Given the description of an element on the screen output the (x, y) to click on. 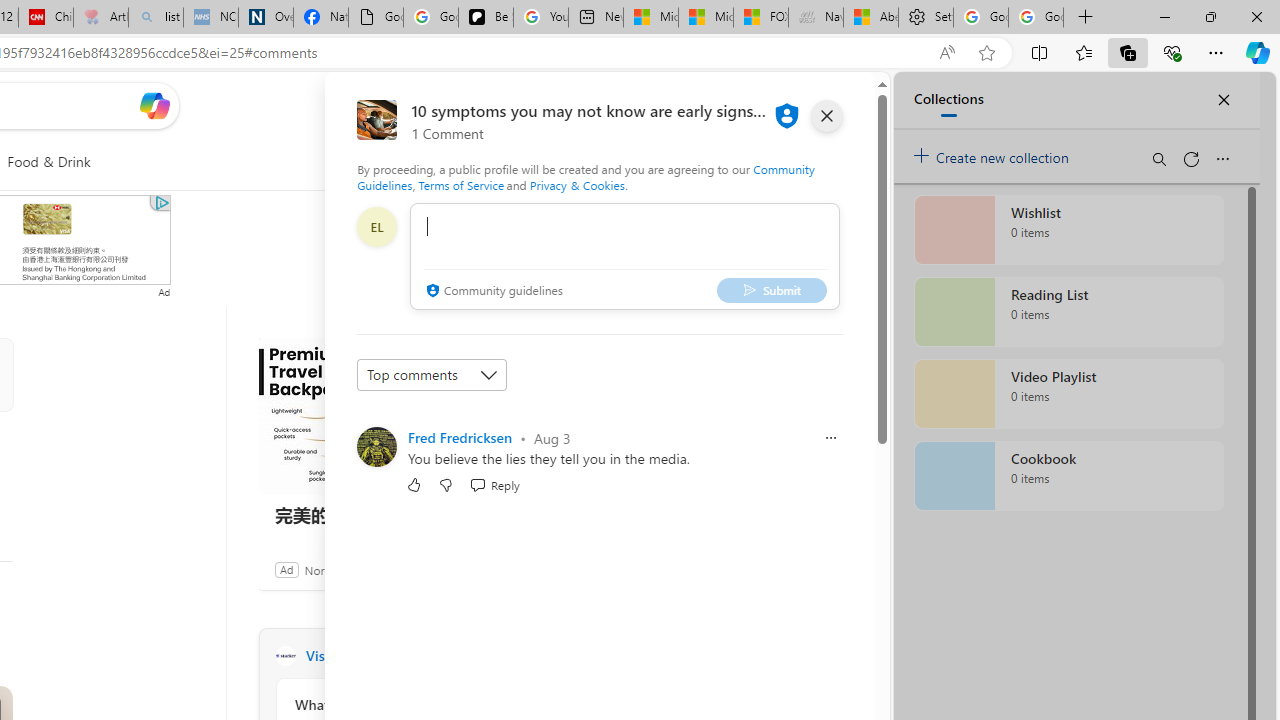
Ad (286, 569)
Sort comments by (431, 374)
Aberdeen, Hong Kong SAR hourly forecast | Microsoft Weather (870, 17)
Reply Reply Comment (494, 484)
Be Smart | creating Science videos | Patreon (486, 17)
comment-box (624, 256)
Dislike (446, 484)
FOX News - MSN (760, 17)
